Given the description of an element on the screen output the (x, y) to click on. 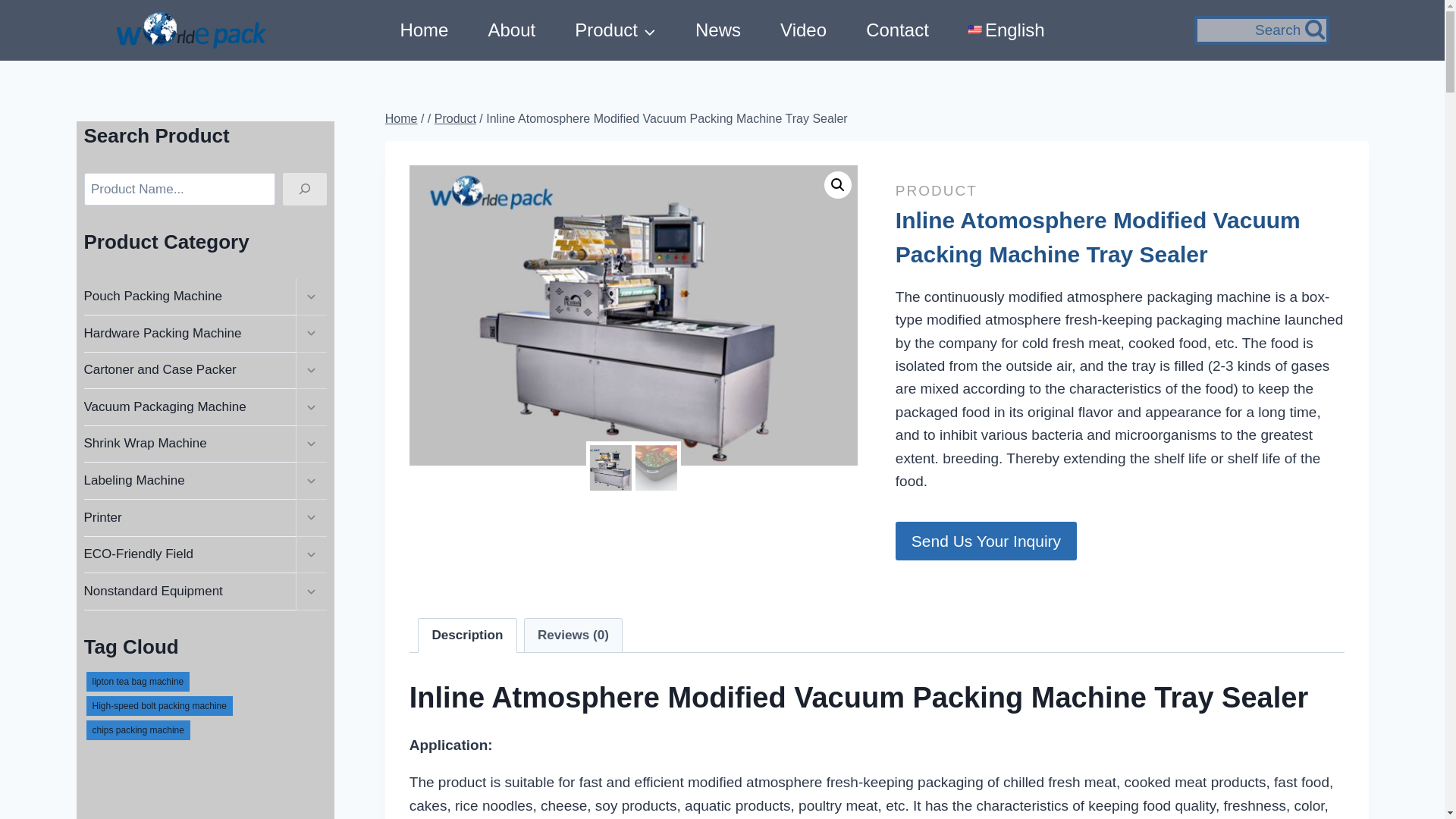
Home (423, 29)
Product (614, 29)
About (510, 29)
